Given the description of an element on the screen output the (x, y) to click on. 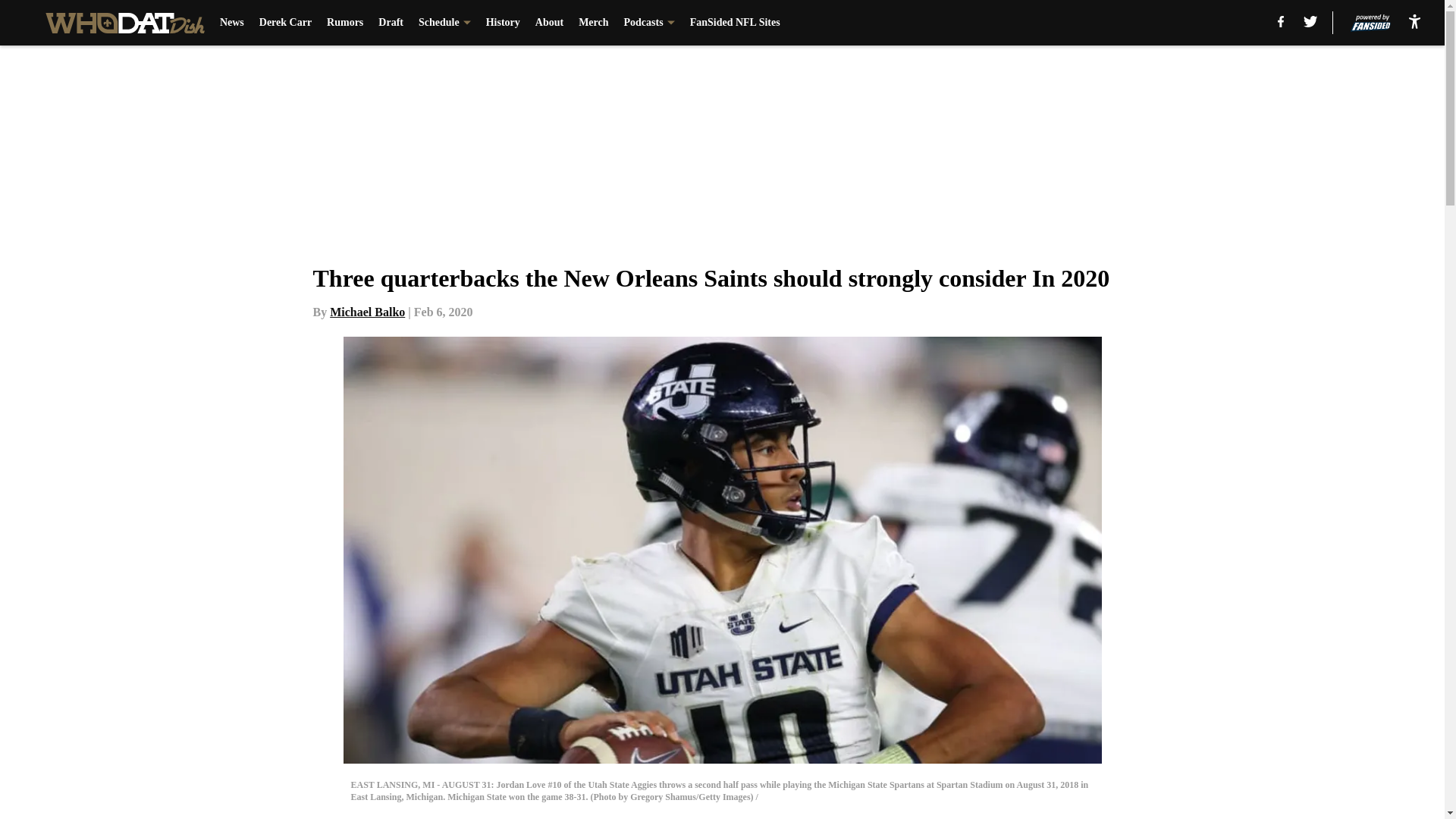
Merch (593, 22)
Draft (390, 22)
About (549, 22)
News (231, 22)
Michael Balko (367, 311)
Derek Carr (285, 22)
History (502, 22)
Rumors (344, 22)
FanSided NFL Sites (735, 22)
